Given the description of an element on the screen output the (x, y) to click on. 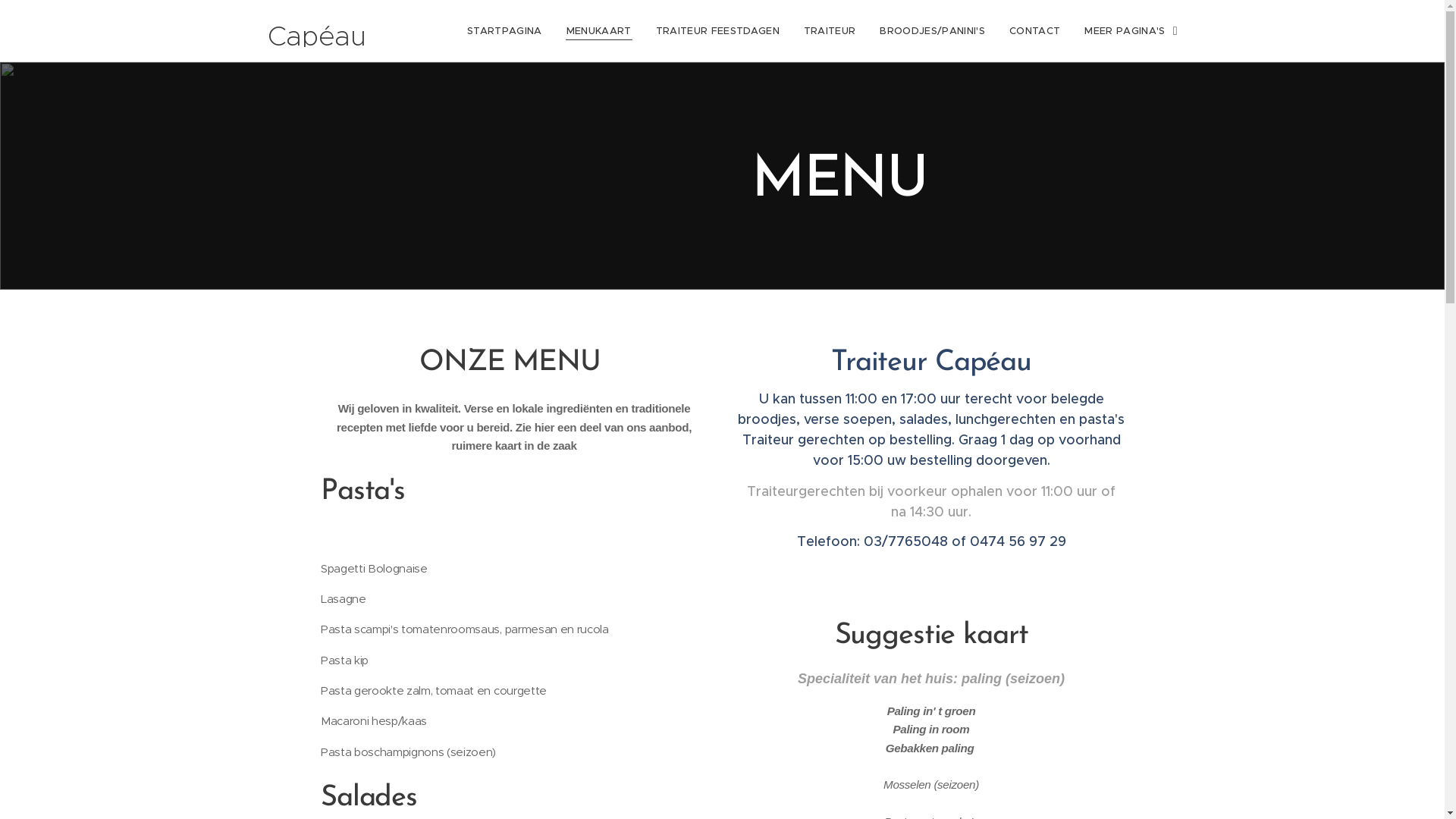
TRAITEUR FEESTDAGEN Element type: text (717, 31)
MEER PAGINA'S Element type: text (1124, 31)
MENUKAART Element type: text (598, 31)
BROODJES/PANINI'S Element type: text (932, 31)
STARTPAGINA Element type: text (508, 31)
TRAITEUR Element type: text (829, 31)
CONTACT Element type: text (1034, 31)
